Given the description of an element on the screen output the (x, y) to click on. 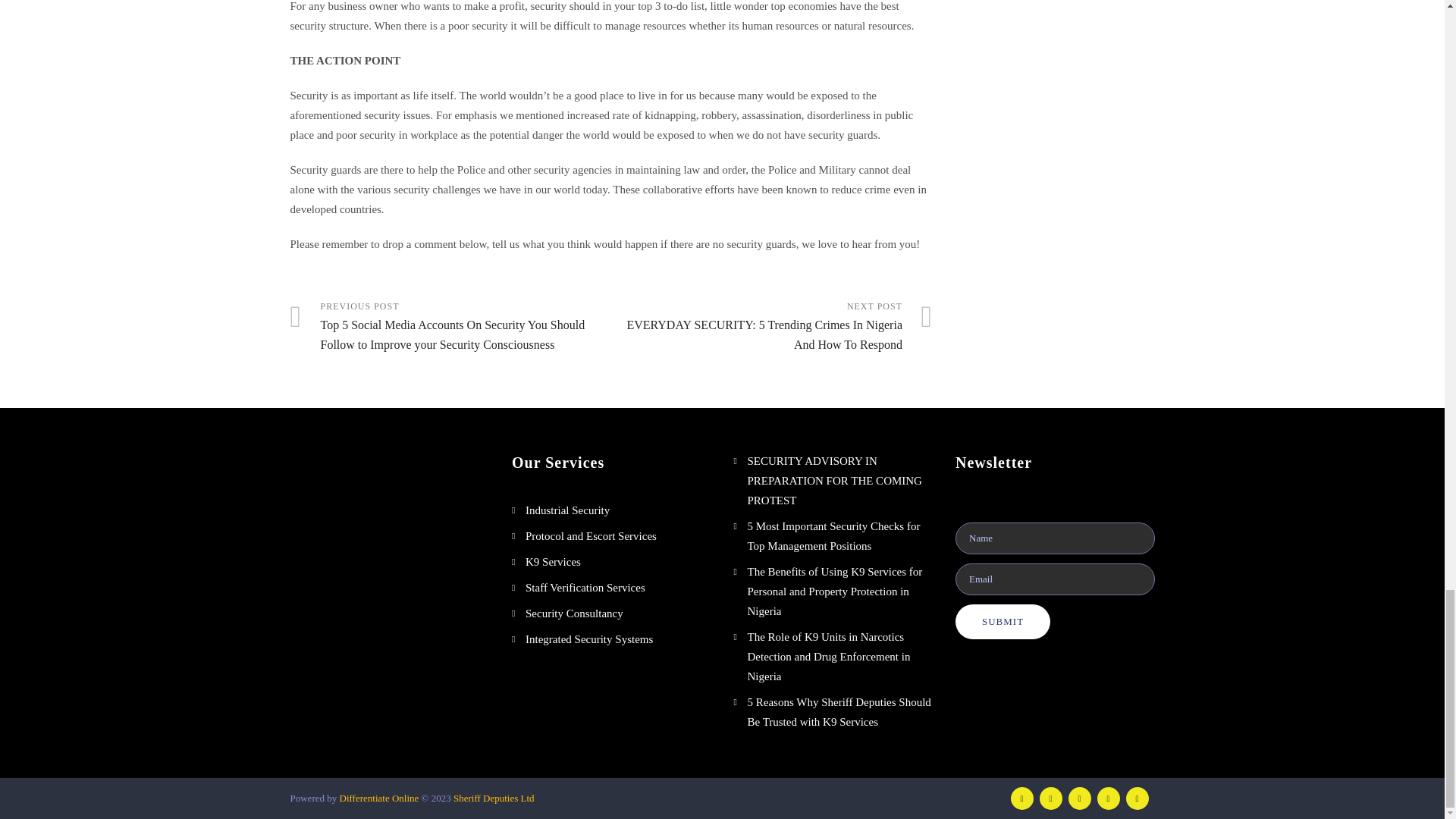
Name (1054, 538)
Email (1054, 579)
